Given the description of an element on the screen output the (x, y) to click on. 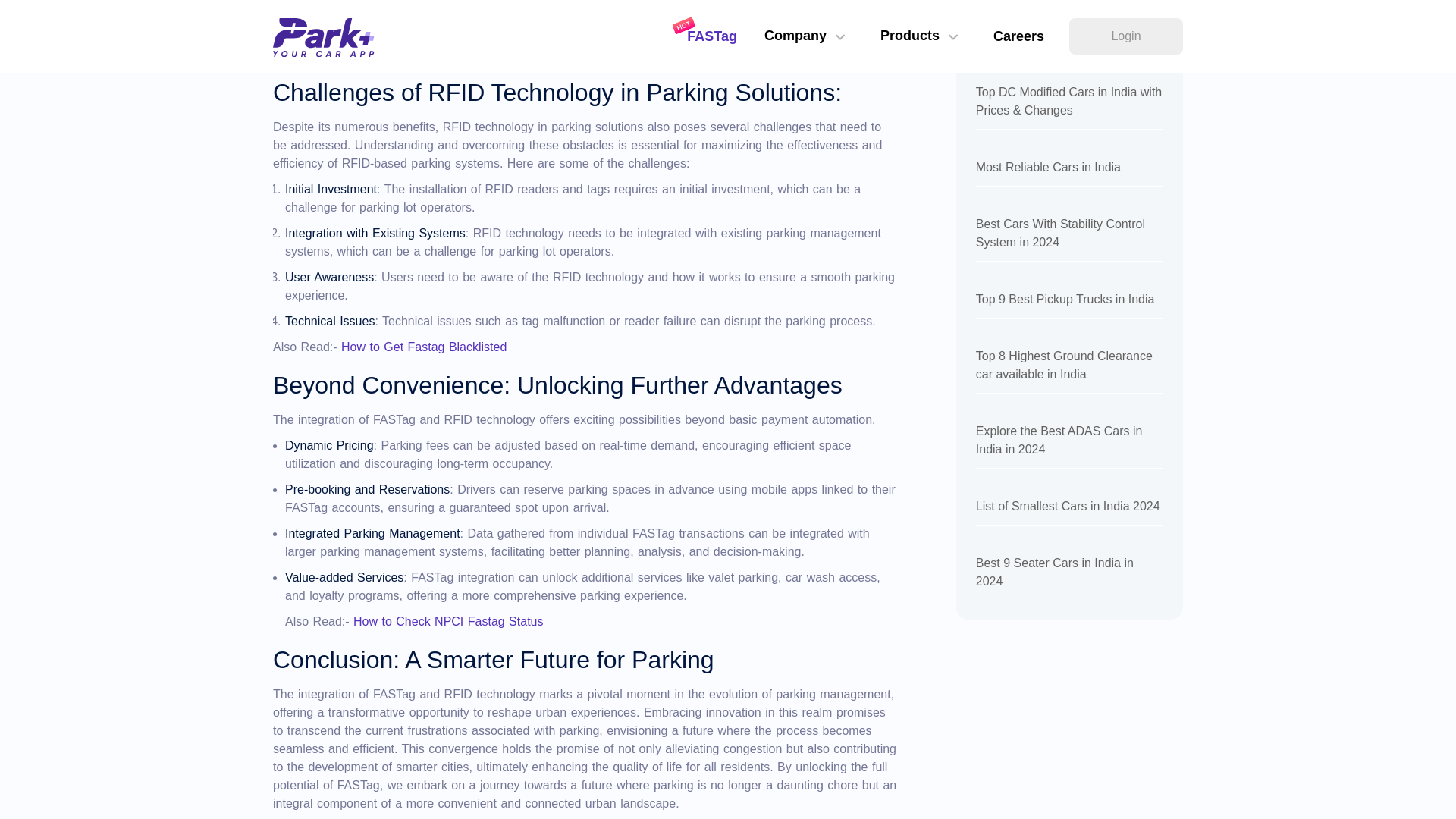
List of Smallest Cars in India 2024 (1069, 511)
Explore the Best ADAS Cars in India in 2024 (1069, 445)
How to Check NPCI Fastag Status (448, 621)
Best 9 Seater Cars in India in 2024 (1069, 576)
How to Get Fastag Blacklisted (423, 346)
Most Reliable Cars in India (1069, 172)
Best Cars With Stability Control System in 2024 (1069, 238)
Top 9 Best Pickup Trucks in India (1069, 304)
Top 8 Highest Ground Clearance car available in India (1069, 370)
